Given the description of an element on the screen output the (x, y) to click on. 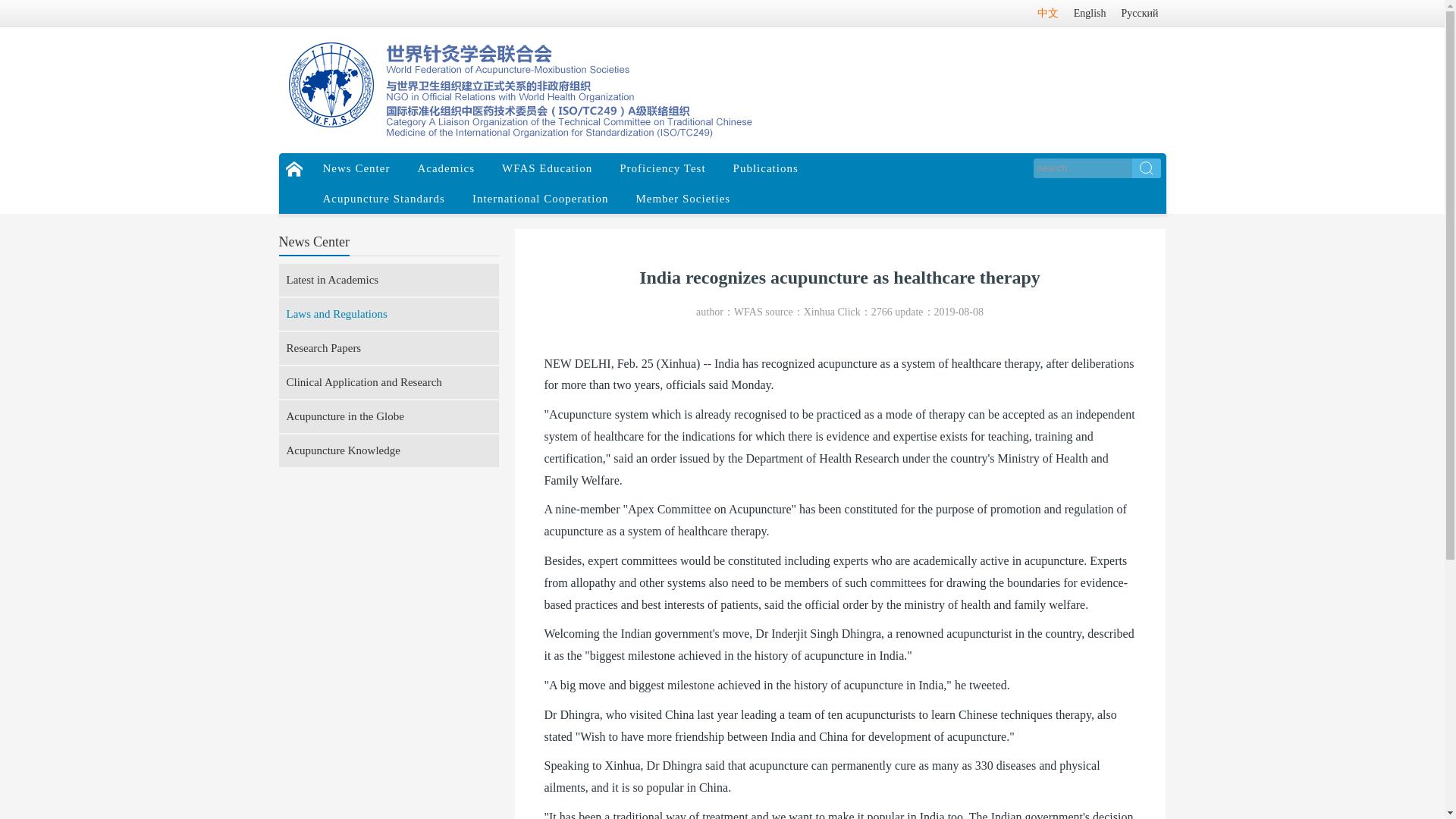
News Center (356, 168)
Proficiency Test (662, 168)
Publications (765, 168)
International Cooperation (540, 198)
English (1089, 13)
WFAS Education (546, 168)
Academics (445, 168)
Laws and Regulations (389, 314)
Acupuncture Standards (383, 198)
Latest in Academics (389, 279)
Member Societies (682, 198)
